Given the description of an element on the screen output the (x, y) to click on. 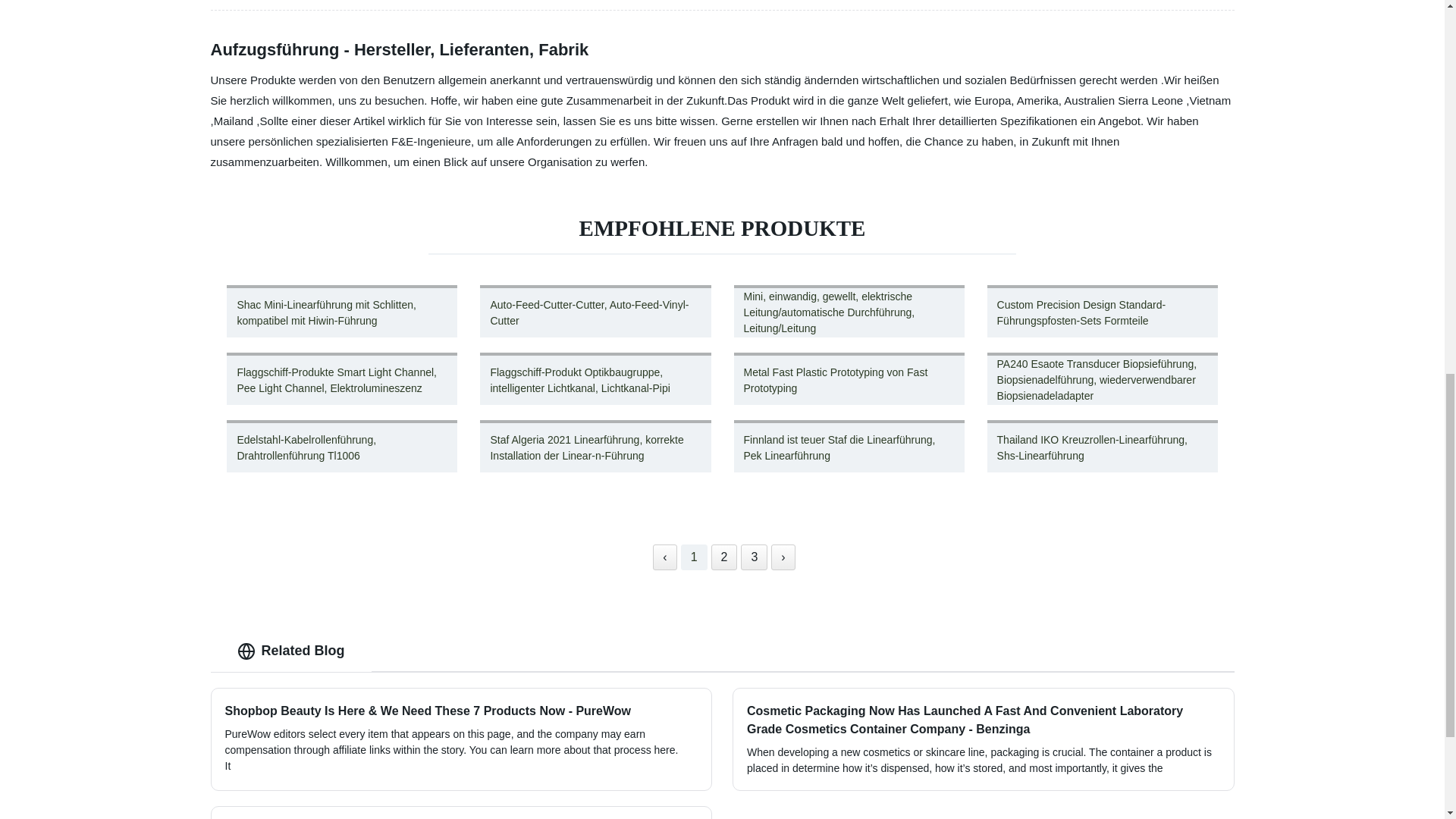
Auto-Feed-Cutter-Cutter, Auto-Feed-Vinyl-Cutter (595, 310)
Metal Fast Plastic Prototyping von Fast Prototyping (848, 378)
